Given the description of an element on the screen output the (x, y) to click on. 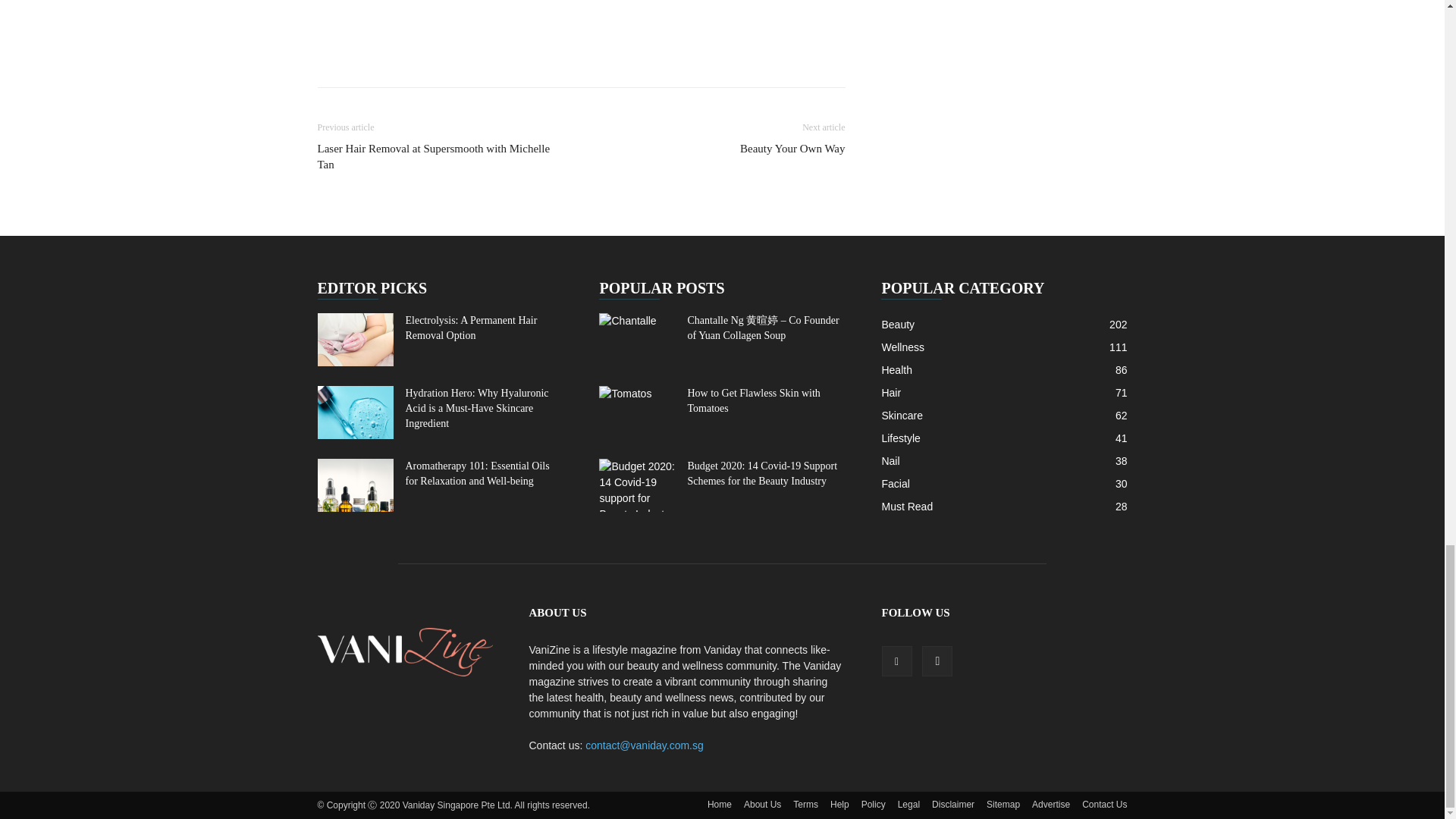
Electrolysis: A Permanent Hair Removal Option (355, 339)
Electrolysis: A Permanent Hair Removal Option (470, 327)
